Given the description of an element on the screen output the (x, y) to click on. 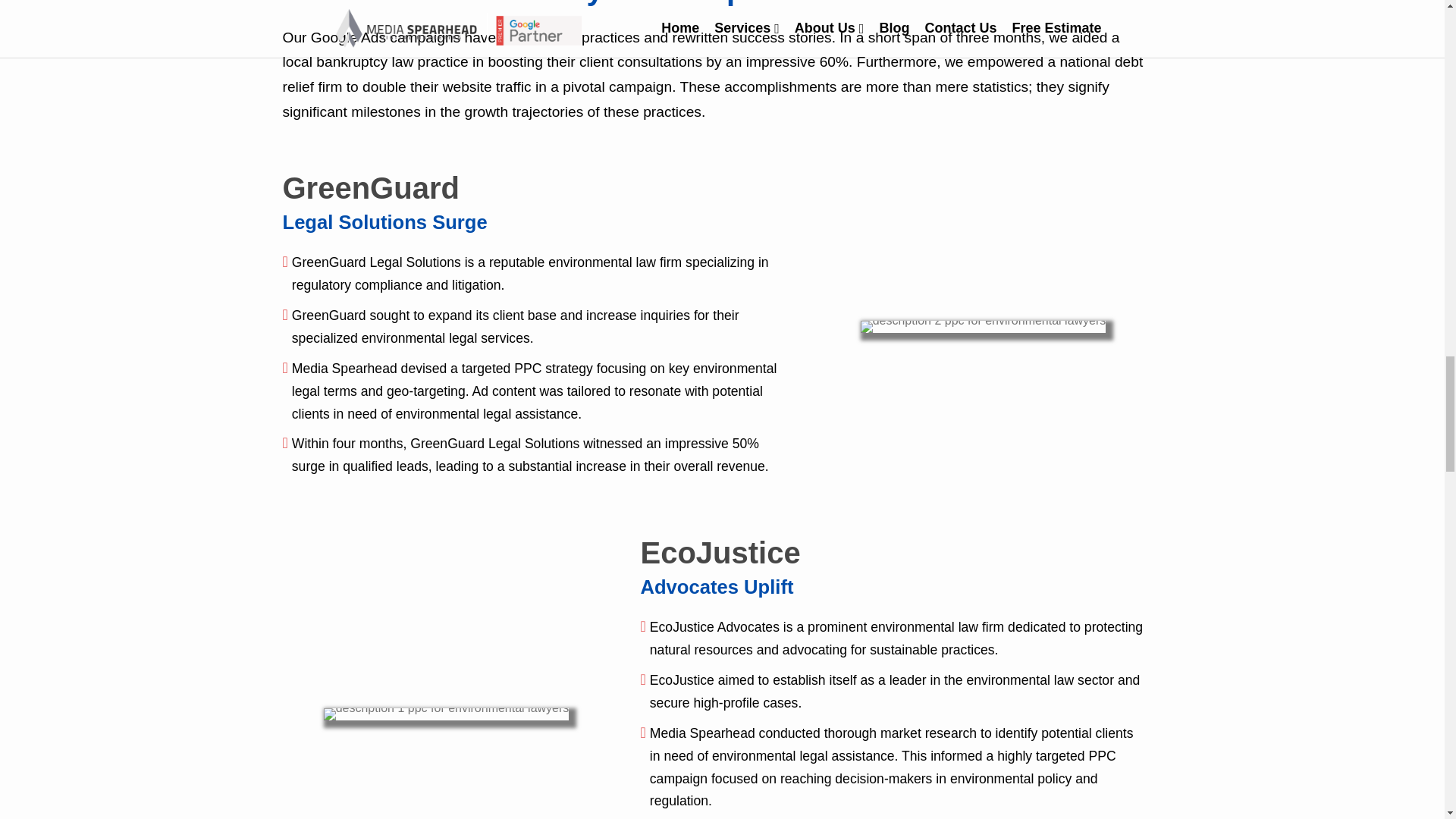
description-2-ppc-for-environmental-lawyers (983, 326)
description-1-ppc-for-environmental-lawyers (446, 714)
